Given the description of an element on the screen output the (x, y) to click on. 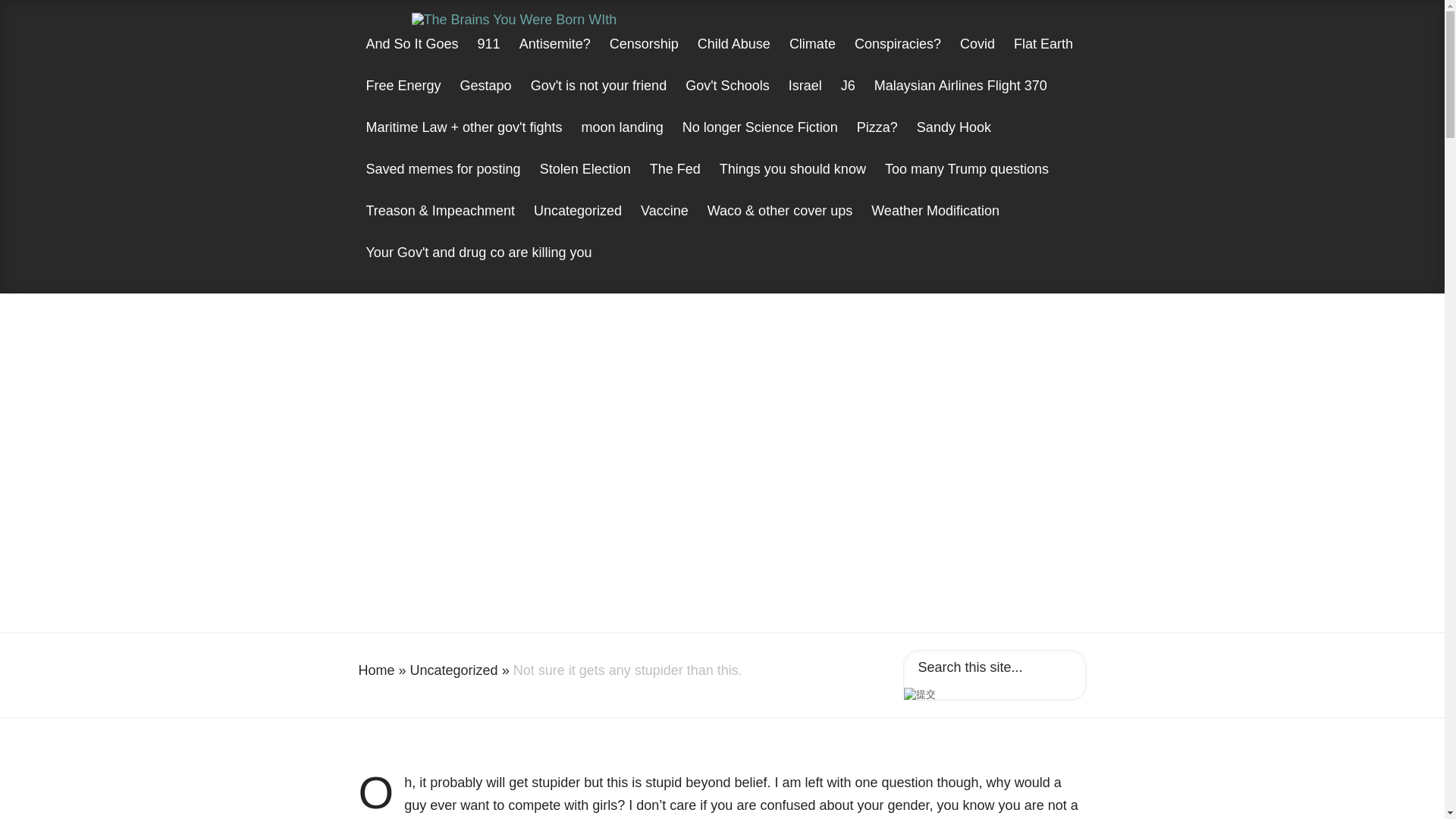
And So It Goes (411, 57)
moon landing (622, 141)
The Fed (674, 182)
Stolen Election (585, 182)
Child Abuse (733, 57)
Climate (812, 57)
Israel (804, 99)
Pizza? (876, 141)
Gov't Schools (727, 99)
Your Gov't and drug co are killing you (478, 266)
Censorship (643, 57)
Vaccine (664, 224)
No longer Science Fiction (760, 141)
Gov't is not your friend (598, 99)
Things you should know (792, 182)
